Given the description of an element on the screen output the (x, y) to click on. 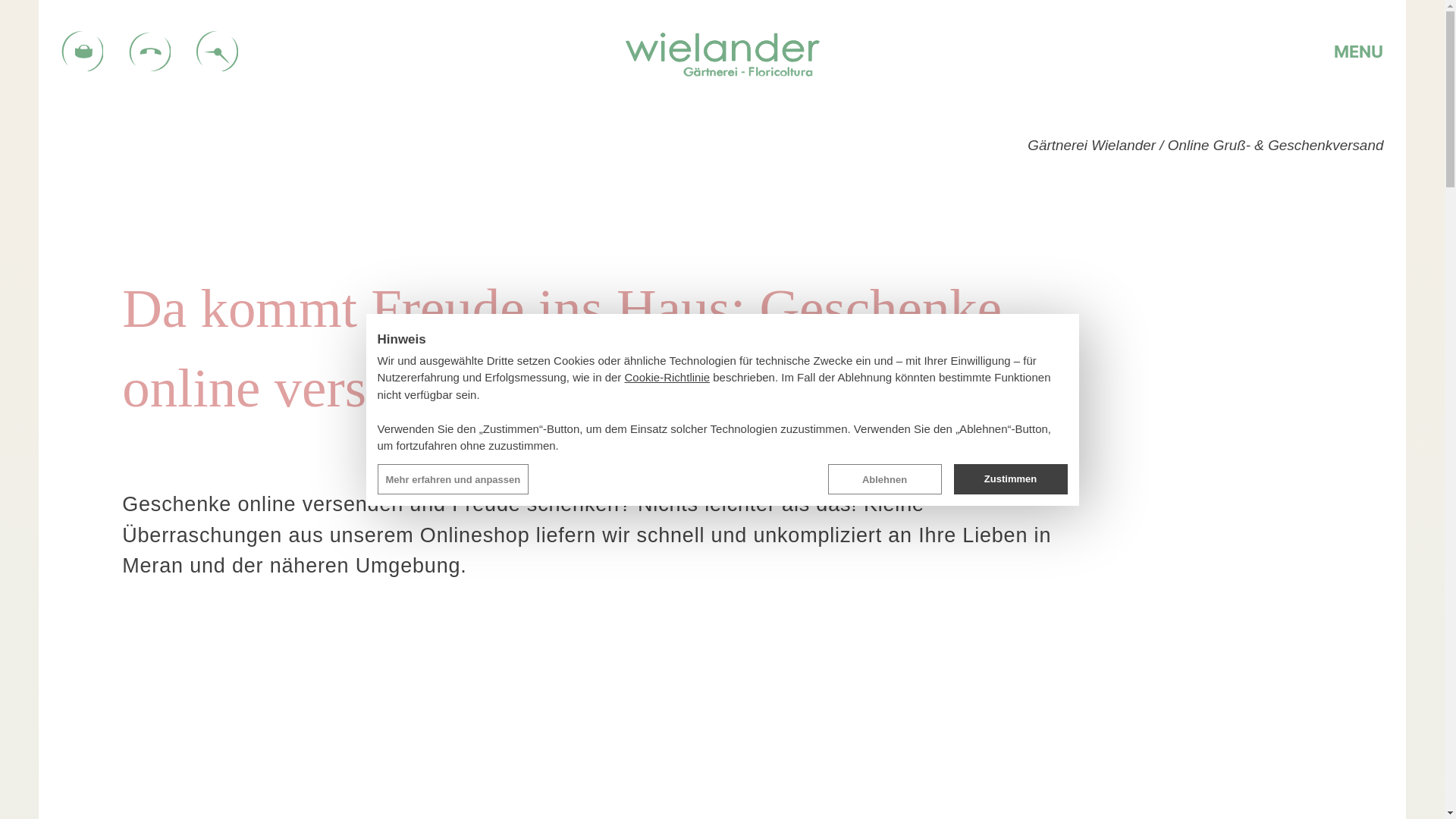
Mehr erfahren und anpassen Element type: text (453, 479)
Cookie-Richtlinie Element type: text (667, 376)
Ablehnen Element type: text (884, 479)
Zustimmen Element type: text (1010, 479)
